Given the description of an element on the screen output the (x, y) to click on. 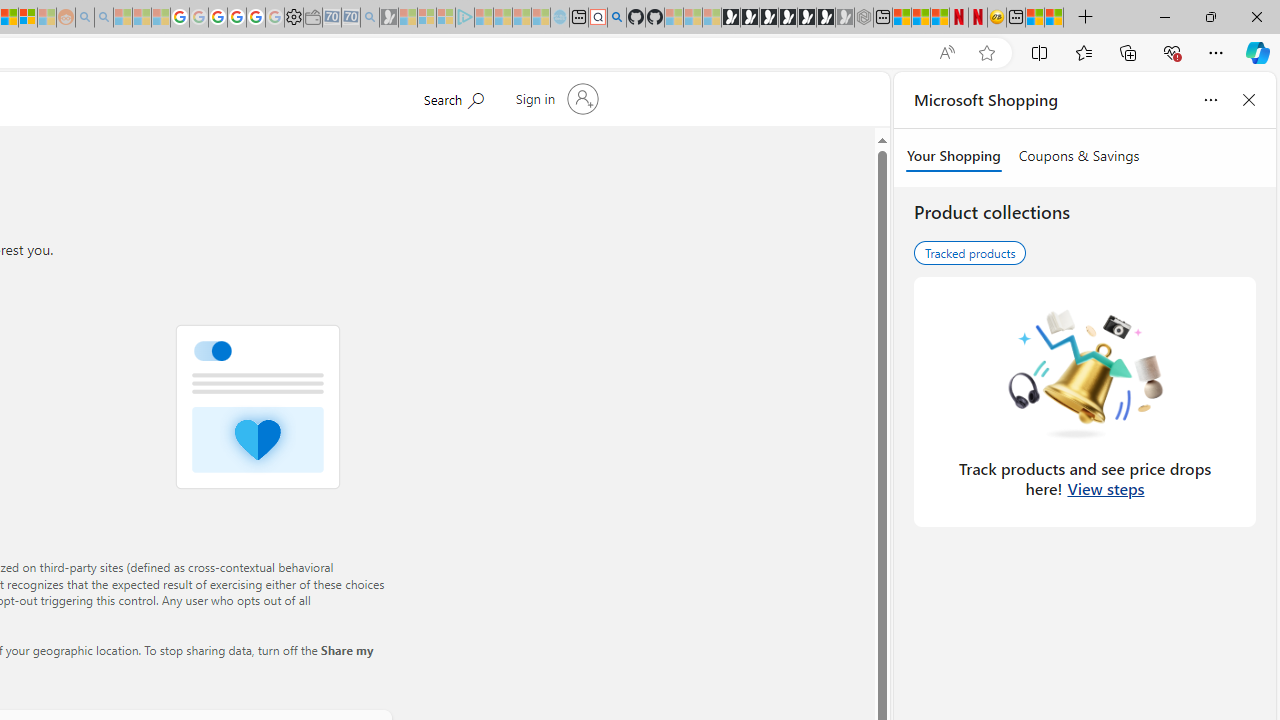
Search Microsoft.com (452, 97)
